Given the description of an element on the screen output the (x, y) to click on. 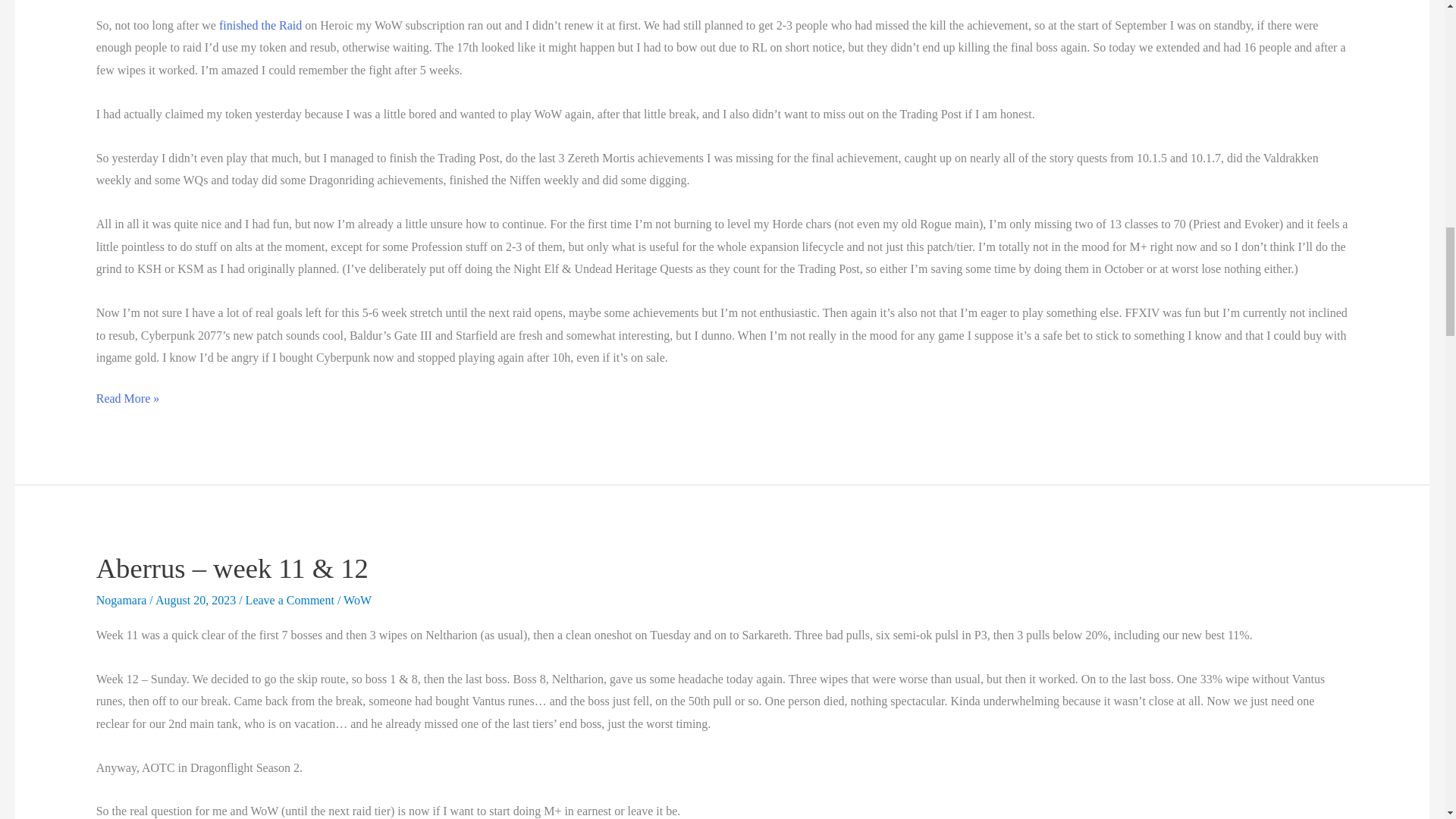
Nogamara (122, 599)
Leave a Comment (290, 599)
finished the Raid (260, 24)
View all posts by Nogamara (122, 599)
WoW (357, 599)
